Given the description of an element on the screen output the (x, y) to click on. 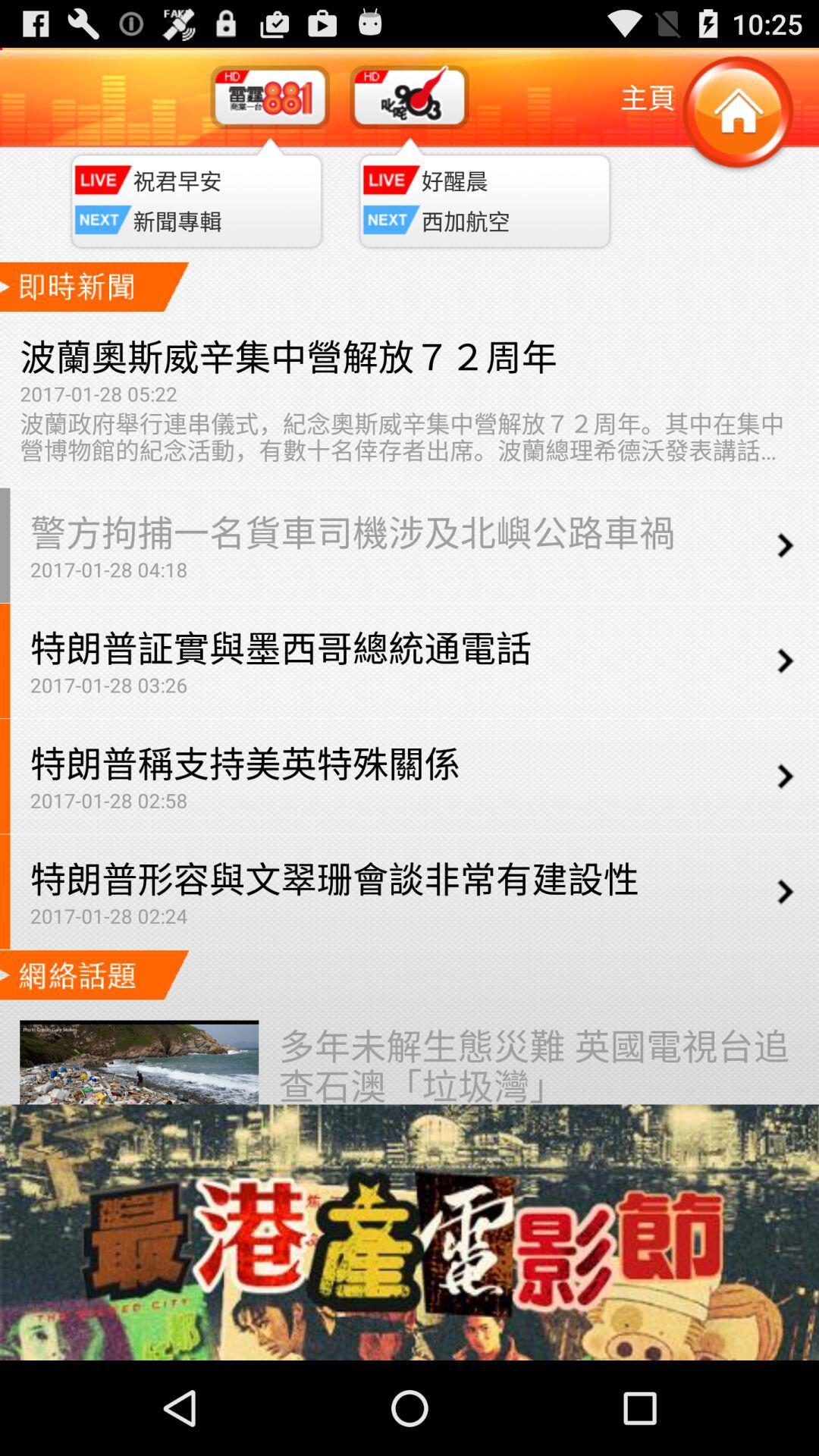
home page the article (737, 113)
